Given the description of an element on the screen output the (x, y) to click on. 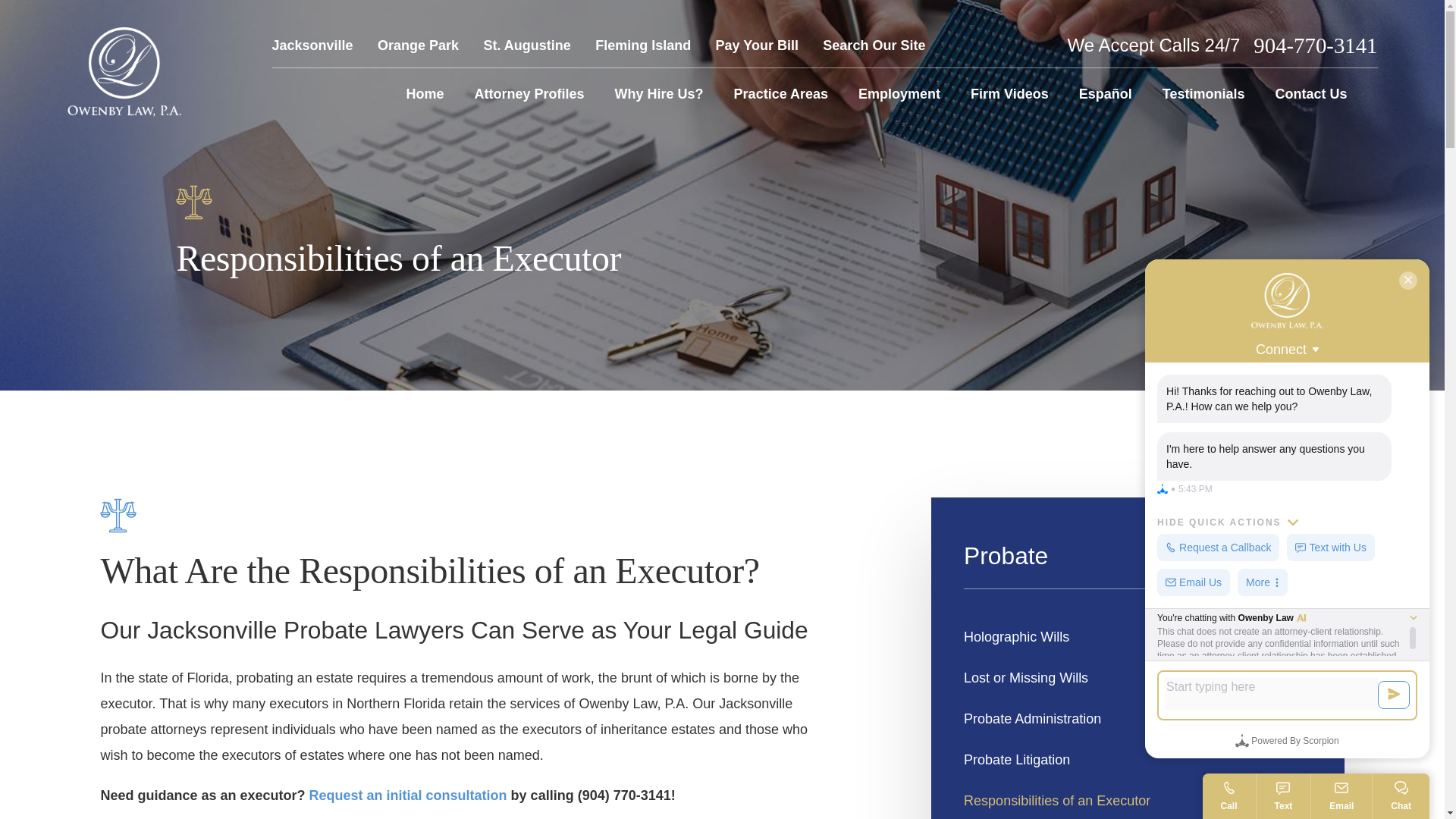
Home (123, 71)
Orange Park (417, 45)
904-770-3141 (1315, 45)
Attorney Profiles (529, 93)
Jacksonville (311, 45)
Home (425, 93)
St. Augustine (526, 45)
Why Hire Us? (658, 93)
Pay Your Bill (756, 45)
Search Our Site (873, 45)
Fleming Island (642, 45)
Owenby Law, P.A. (123, 72)
Practice Areas (780, 93)
